Given the description of an element on the screen output the (x, y) to click on. 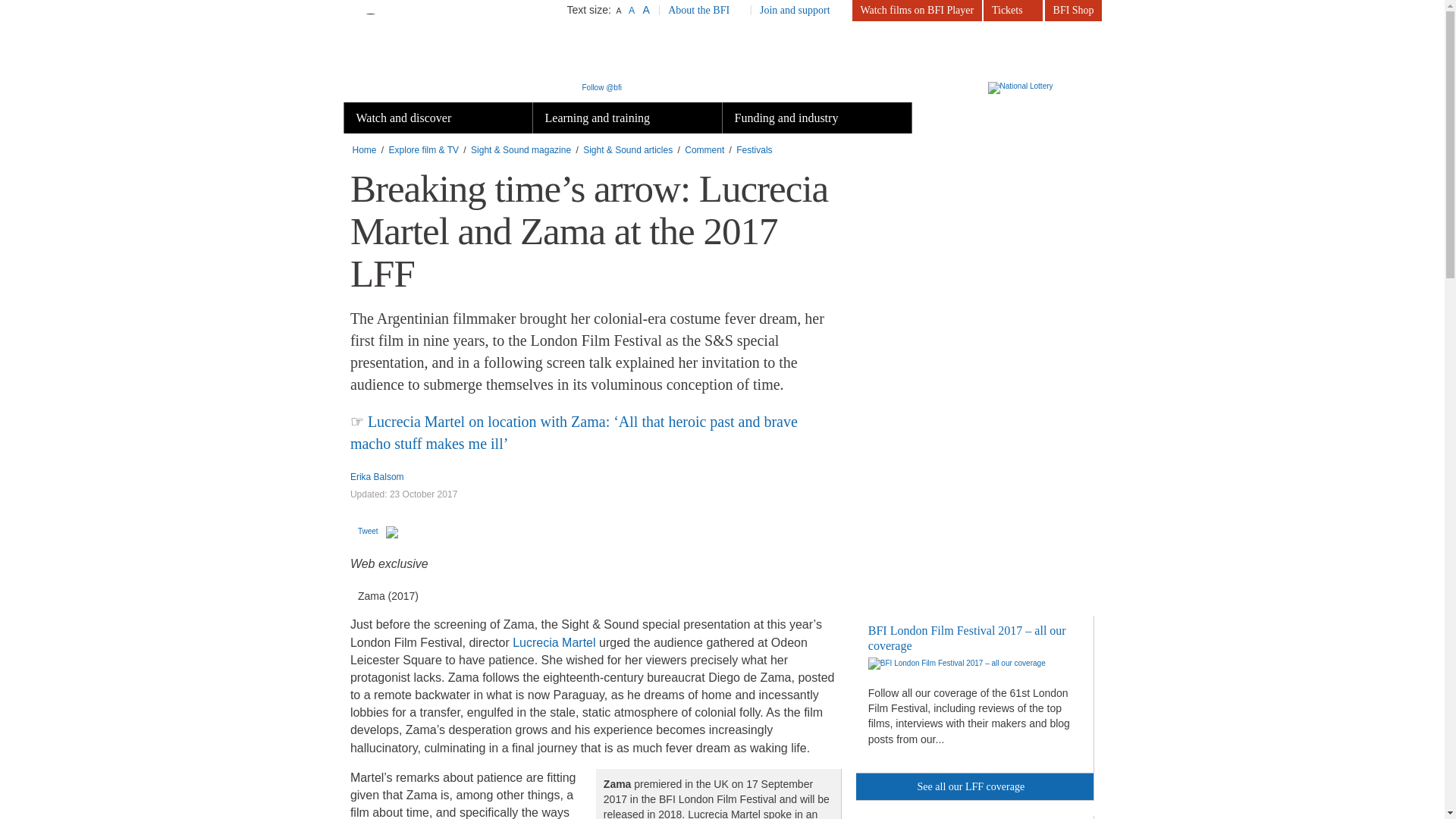
A (618, 10)
Watch films on BFI Player (916, 10)
Skip to main content (34, 0)
National Lottery (1040, 87)
Watch and discover (437, 117)
Join and support (800, 10)
A (631, 9)
About the BFI (705, 10)
Learning and training (626, 117)
Tickets (1013, 10)
